Given the description of an element on the screen output the (x, y) to click on. 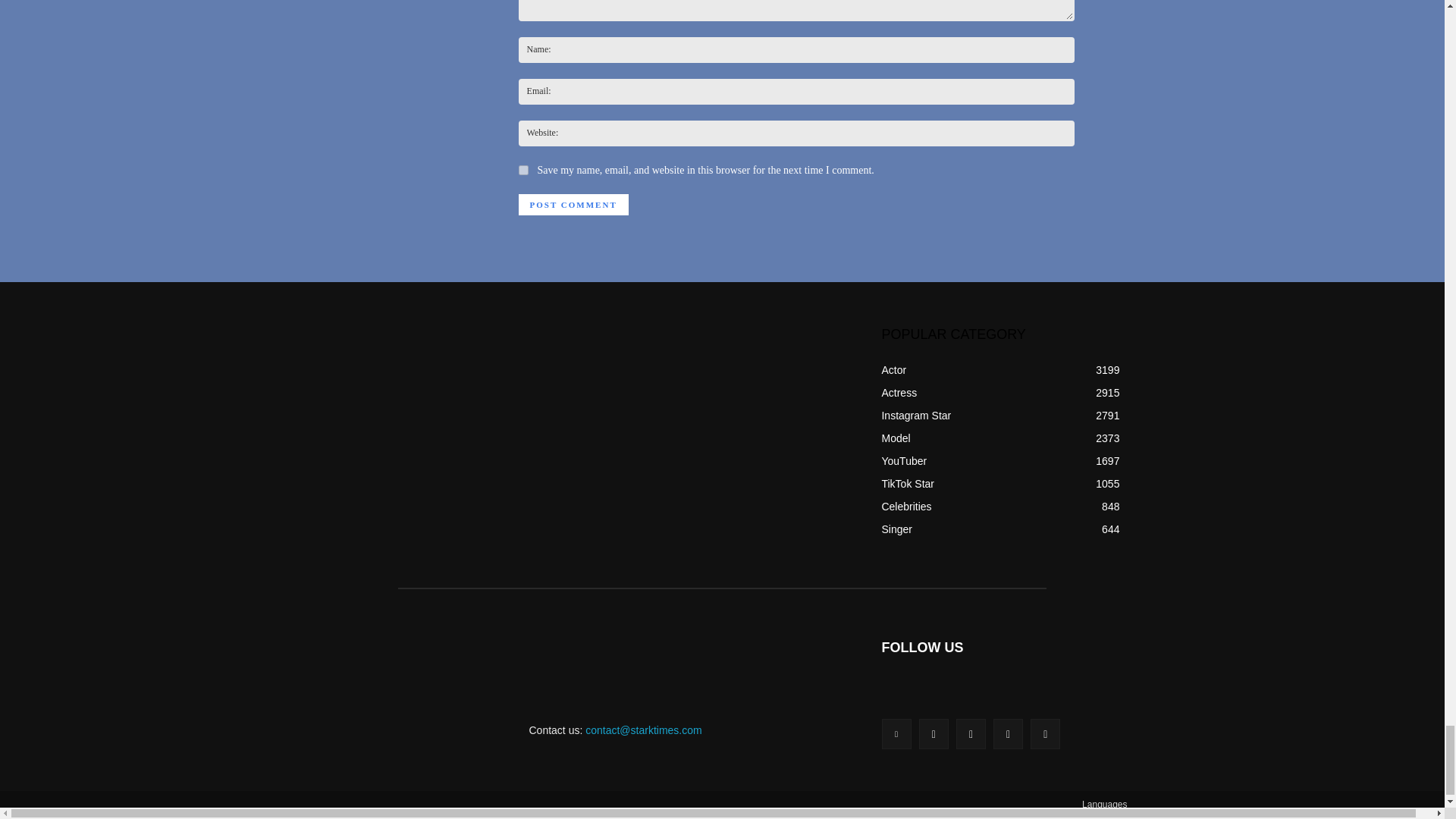
yes (523, 170)
Post Comment (573, 204)
